Given the description of an element on the screen output the (x, y) to click on. 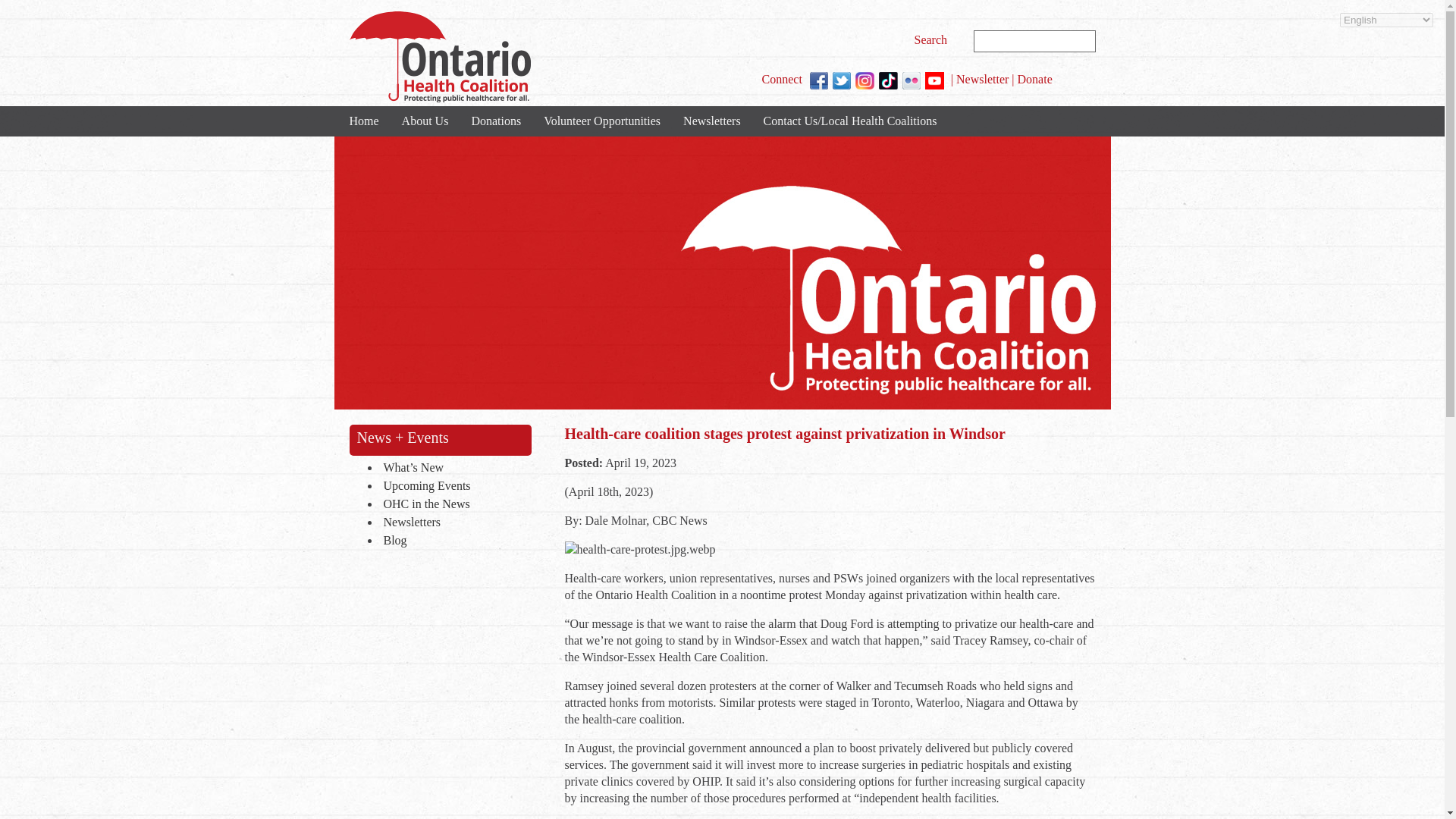
Newsletters (452, 523)
Twitter (841, 80)
Flickr (911, 80)
Home (363, 121)
Instagram (865, 80)
Volunteer Opportunities (601, 121)
Search (932, 39)
Ontario Health Coalition (439, 56)
About Us (425, 121)
Facebook (818, 80)
Donate (1034, 79)
TikTok (888, 80)
Blog (452, 541)
Donations (496, 121)
Newsletter (982, 79)
